Given the description of an element on the screen output the (x, y) to click on. 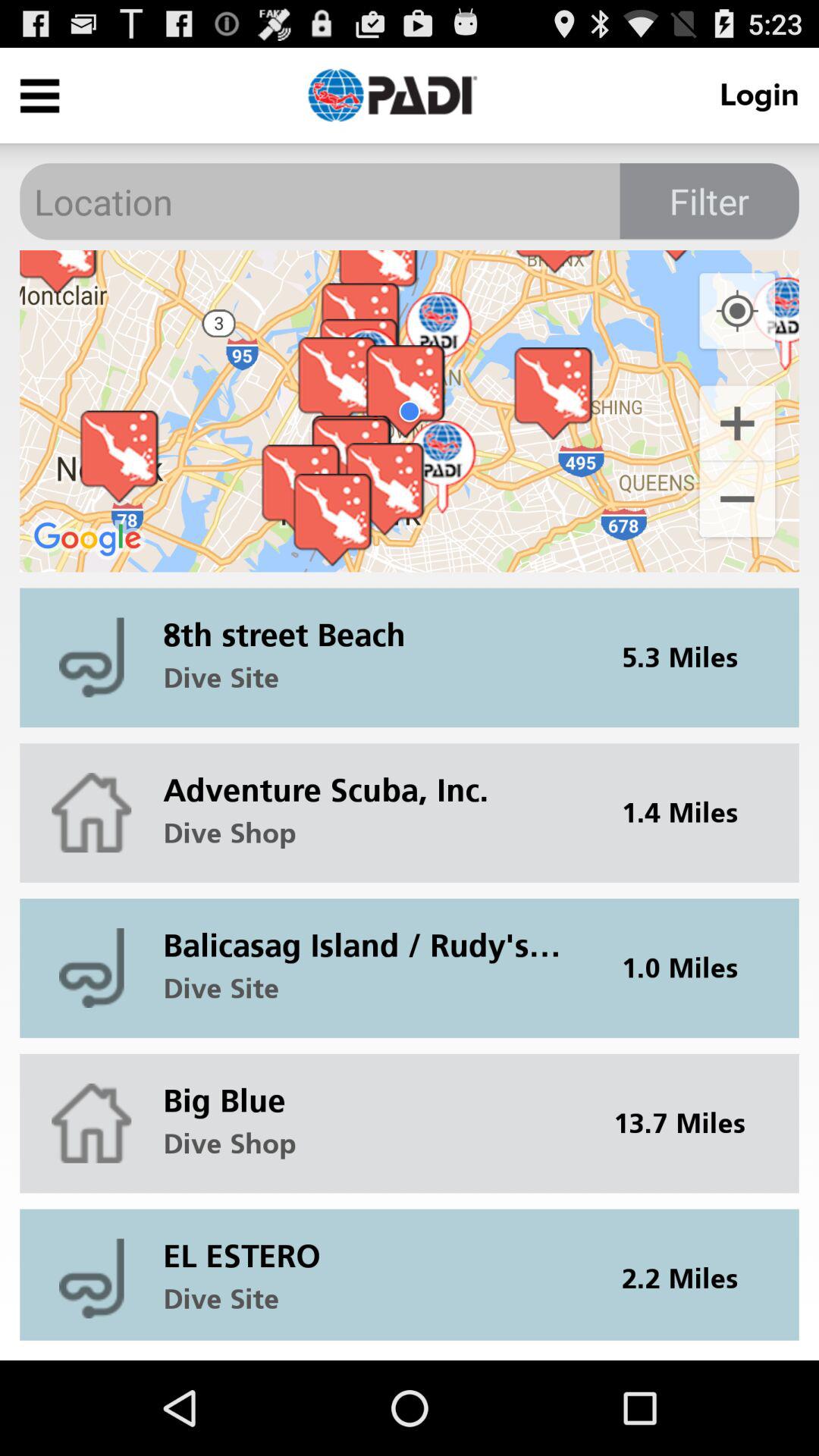
click item above el estero (689, 1123)
